Given the description of an element on the screen output the (x, y) to click on. 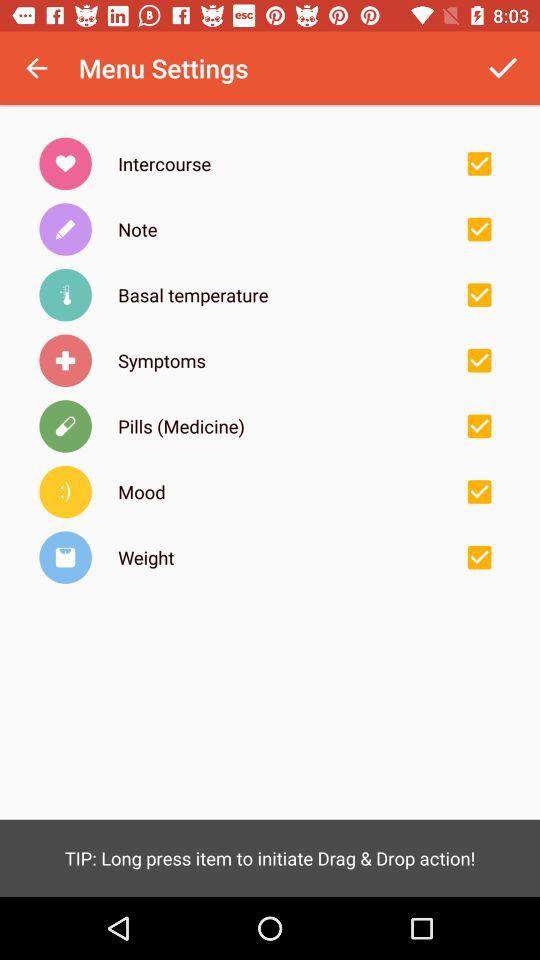
check boxes (479, 360)
